Given the description of an element on the screen output the (x, y) to click on. 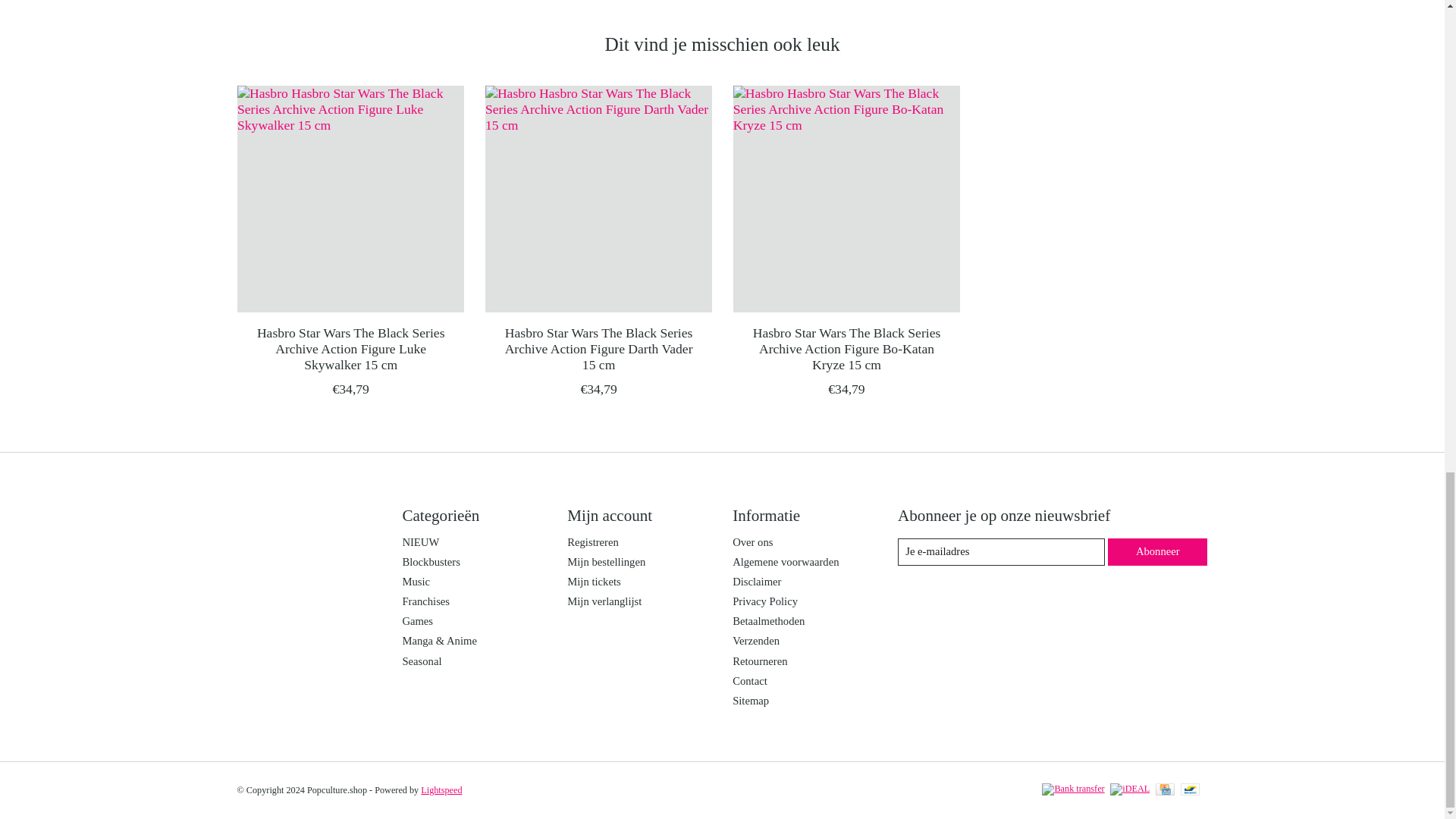
Mijn tickets (593, 581)
Privacy Policy (764, 601)
Algemene voorwaarden (785, 562)
Mijn verlanglijst (604, 601)
Over ons (752, 541)
Mijn bestellingen (606, 562)
Disclaimer (756, 581)
